Given the description of an element on the screen output the (x, y) to click on. 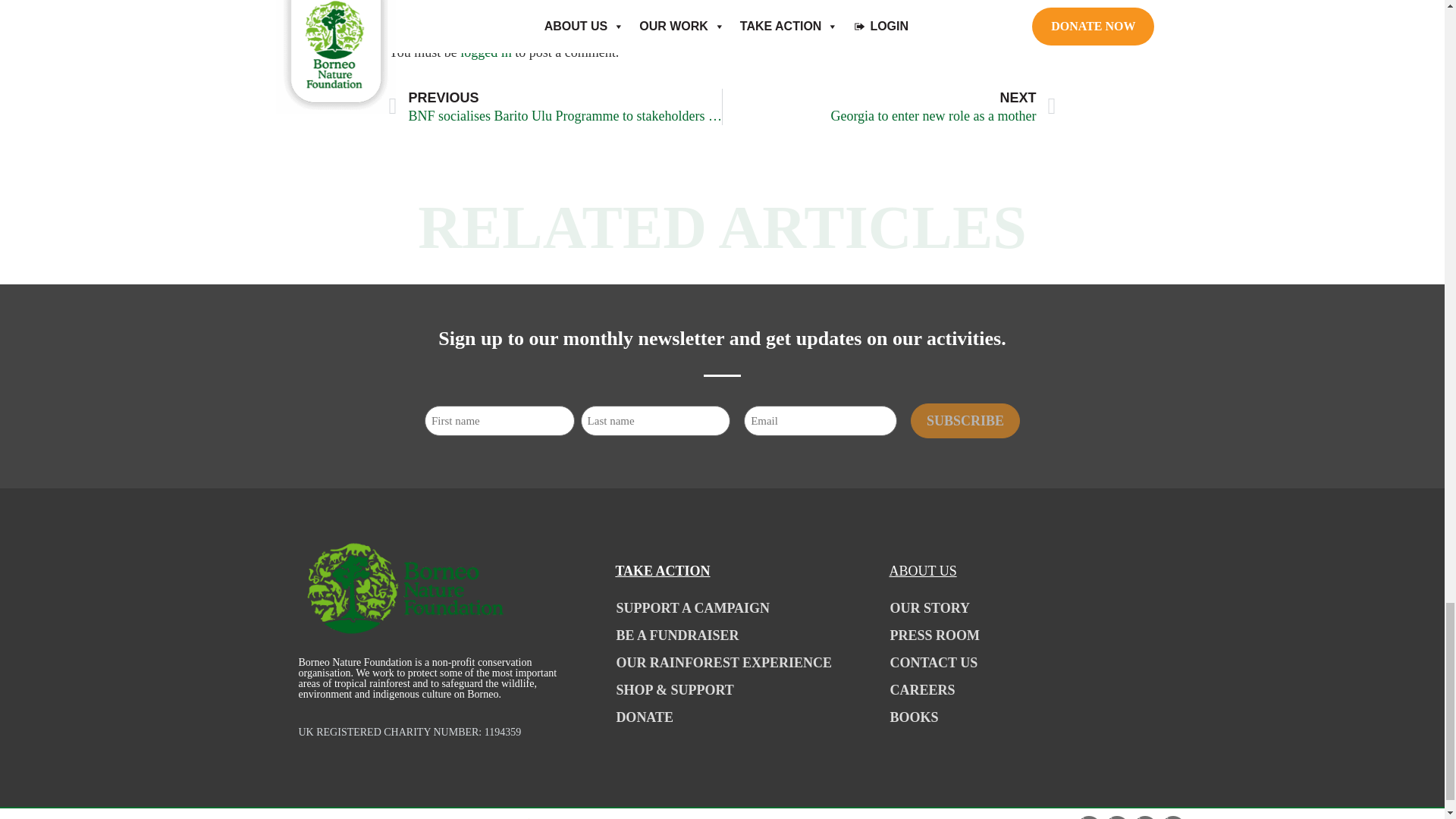
Subscribe (965, 420)
